Given the description of an element on the screen output the (x, y) to click on. 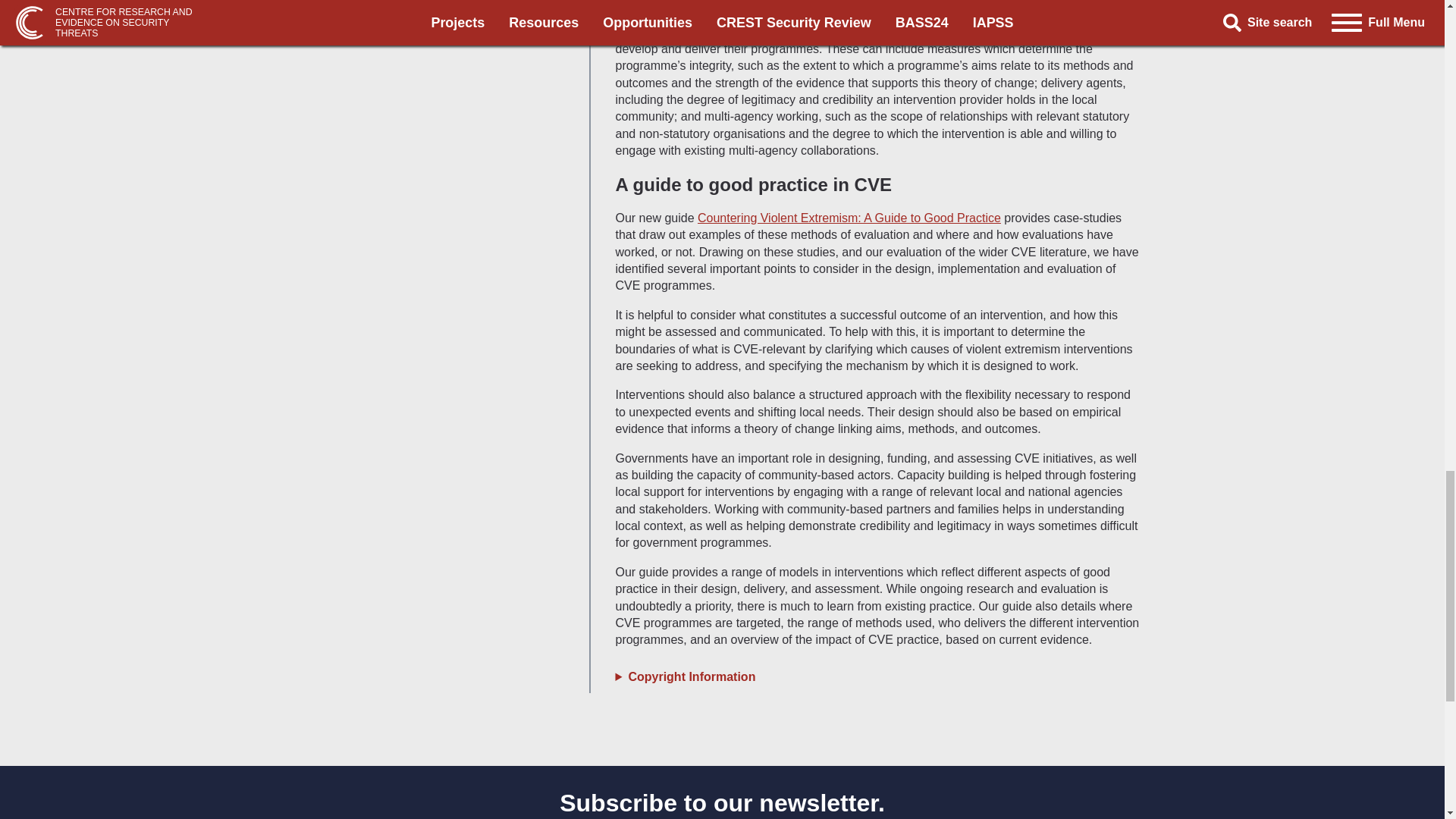
Countering Violent Extremism: A Guide to Good Practice (849, 217)
